Given the description of an element on the screen output the (x, y) to click on. 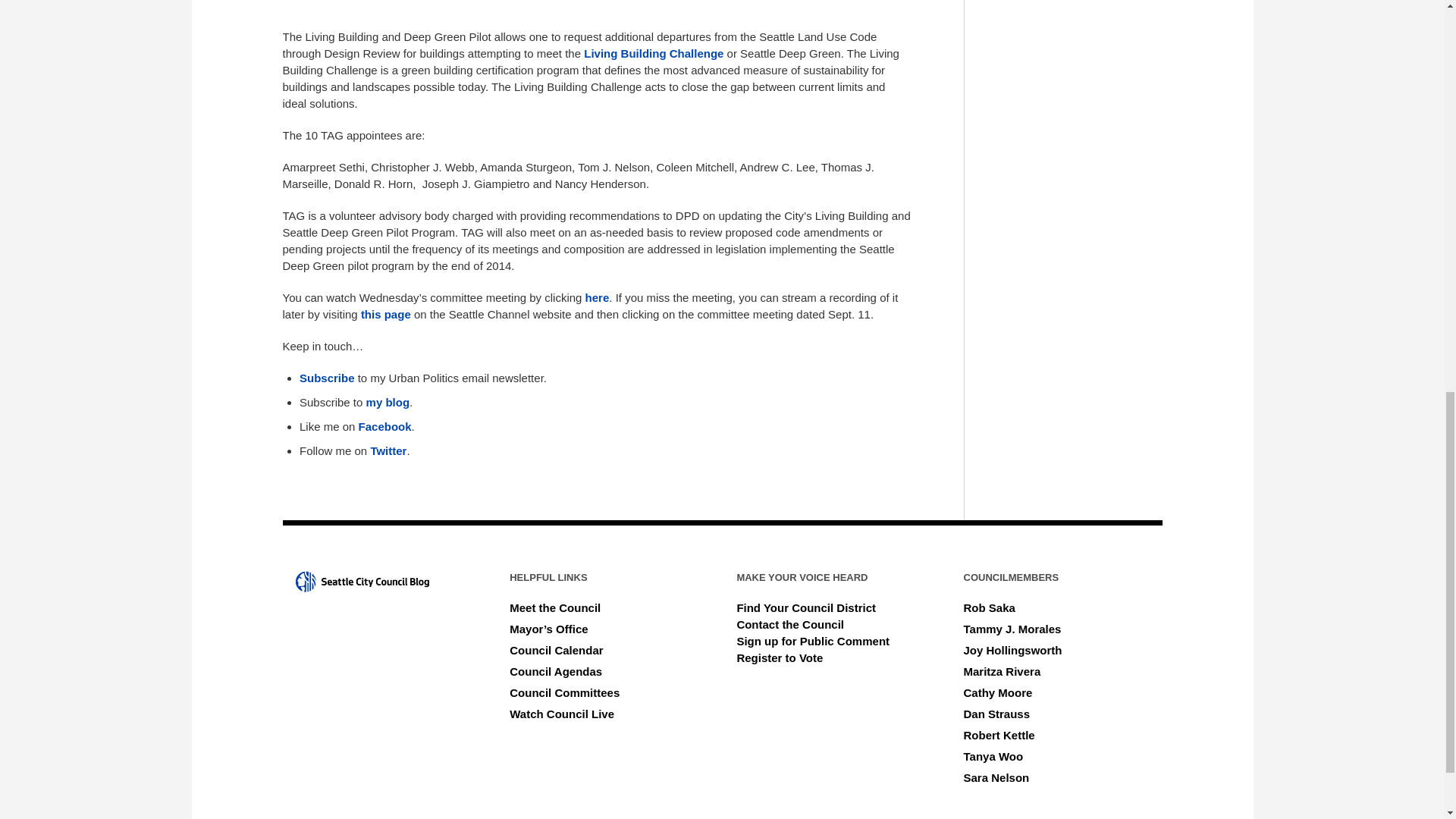
this page (385, 314)
Subscribe (328, 377)
Watch Council Live (561, 713)
Council Calendar (555, 649)
here (597, 297)
Find Your Council District (806, 607)
Twitter (387, 450)
Council Committees (564, 692)
Meet the Council (554, 607)
Living Building Challenge (654, 52)
